Given the description of an element on the screen output the (x, y) to click on. 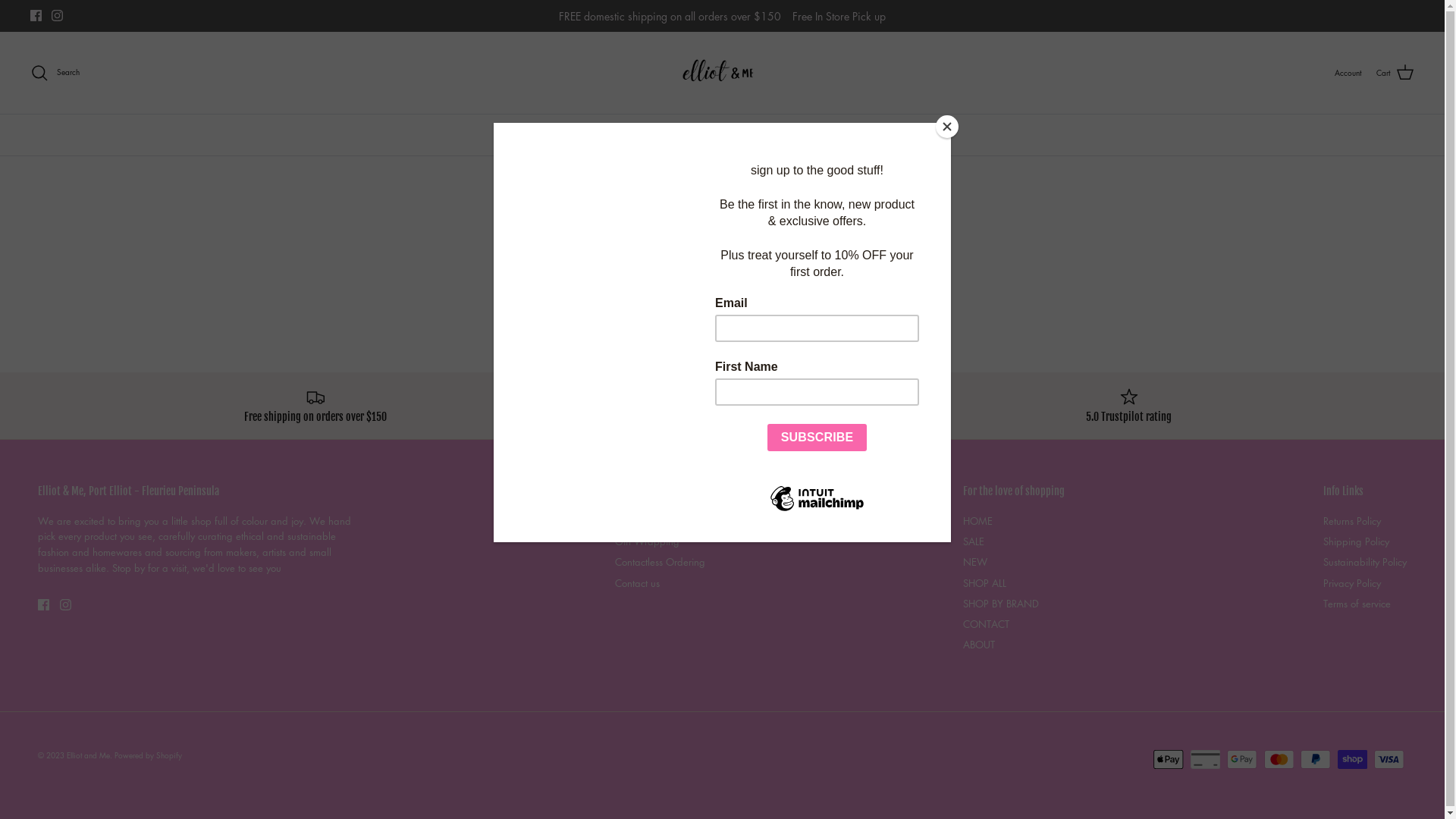
home page Element type: text (753, 287)
Privacy Policy Element type: text (1351, 582)
Elliot and Me Element type: text (87, 754)
Shipping Policy Element type: text (1356, 540)
Sustainability Policy Element type: text (1364, 561)
SALE Element type: text (973, 540)
CONTACT Element type: text (986, 623)
Terms of service Element type: text (1356, 603)
Free shipping on orders over $150 Element type: text (315, 405)
Facebook Element type: text (43, 604)
Gift Cards Element type: text (858, 405)
CONTACT Element type: text (852, 134)
NEW Element type: text (975, 561)
Gift Wrapping Element type: text (647, 540)
Account Element type: text (1347, 72)
Contactless Ordering Element type: text (660, 561)
try a search Element type: text (818, 287)
Gift Vouchers Element type: text (643, 520)
Facebook Element type: text (35, 15)
Returns Policy Element type: text (1351, 520)
SALE Element type: text (579, 134)
ABOUT Element type: text (978, 644)
SHOP ALL Element type: text (984, 582)
ABOUT Element type: text (916, 134)
Instagram Element type: text (56, 15)
Shop our New Styles Element type: text (586, 405)
Contact us Element type: text (637, 582)
Powered by Shopify Element type: text (148, 754)
SHOP ALL Element type: text (688, 134)
HOME Element type: text (526, 134)
SHOP BY BRAND Element type: text (769, 134)
Instagram Element type: text (65, 604)
Elliot and Me Element type: hover (722, 72)
Cart Element type: text (1395, 72)
HOME Element type: text (977, 520)
SHOP BY BRAND Element type: text (1000, 603)
Search Element type: text (54, 72)
NEW Element type: text (628, 134)
